Given the description of an element on the screen output the (x, y) to click on. 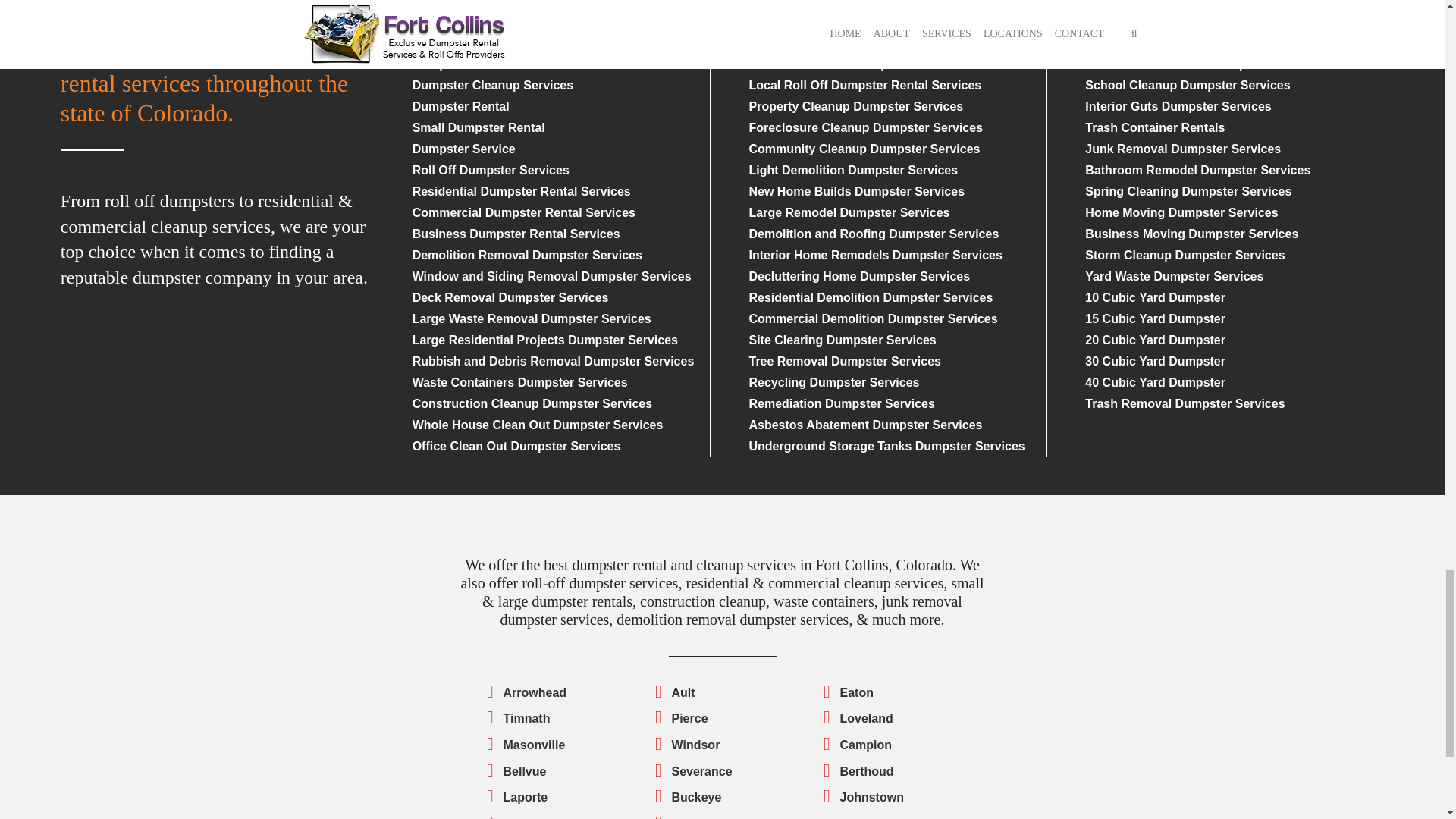
Demolition Removal Dumpster Services (527, 254)
Community Cleanup Dumpster Services (863, 148)
Rubbish and Debris Removal Dumpster Services (553, 360)
Whole House Clean Out Dumpster Services (537, 424)
Dumpster Service (463, 148)
Deck Removal Dumpster Services (510, 297)
New Home Builds Dumpster Services (855, 191)
Residential Dumpster Rental Services (521, 191)
Construction Cleanup Dumpster Services (532, 403)
Waste Containers Dumpster Services (519, 382)
